Given the description of an element on the screen output the (x, y) to click on. 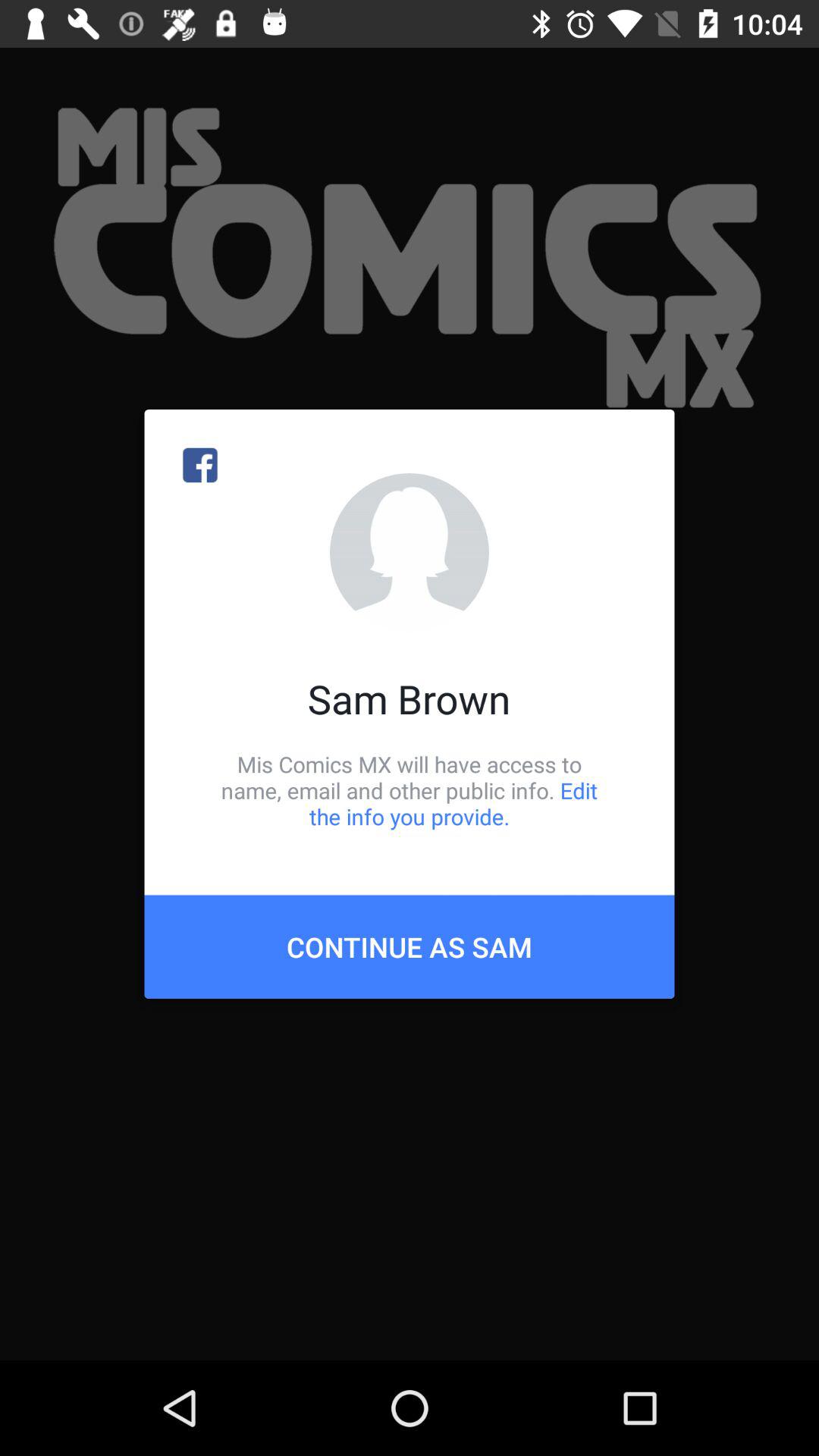
click continue as sam (409, 946)
